Given the description of an element on the screen output the (x, y) to click on. 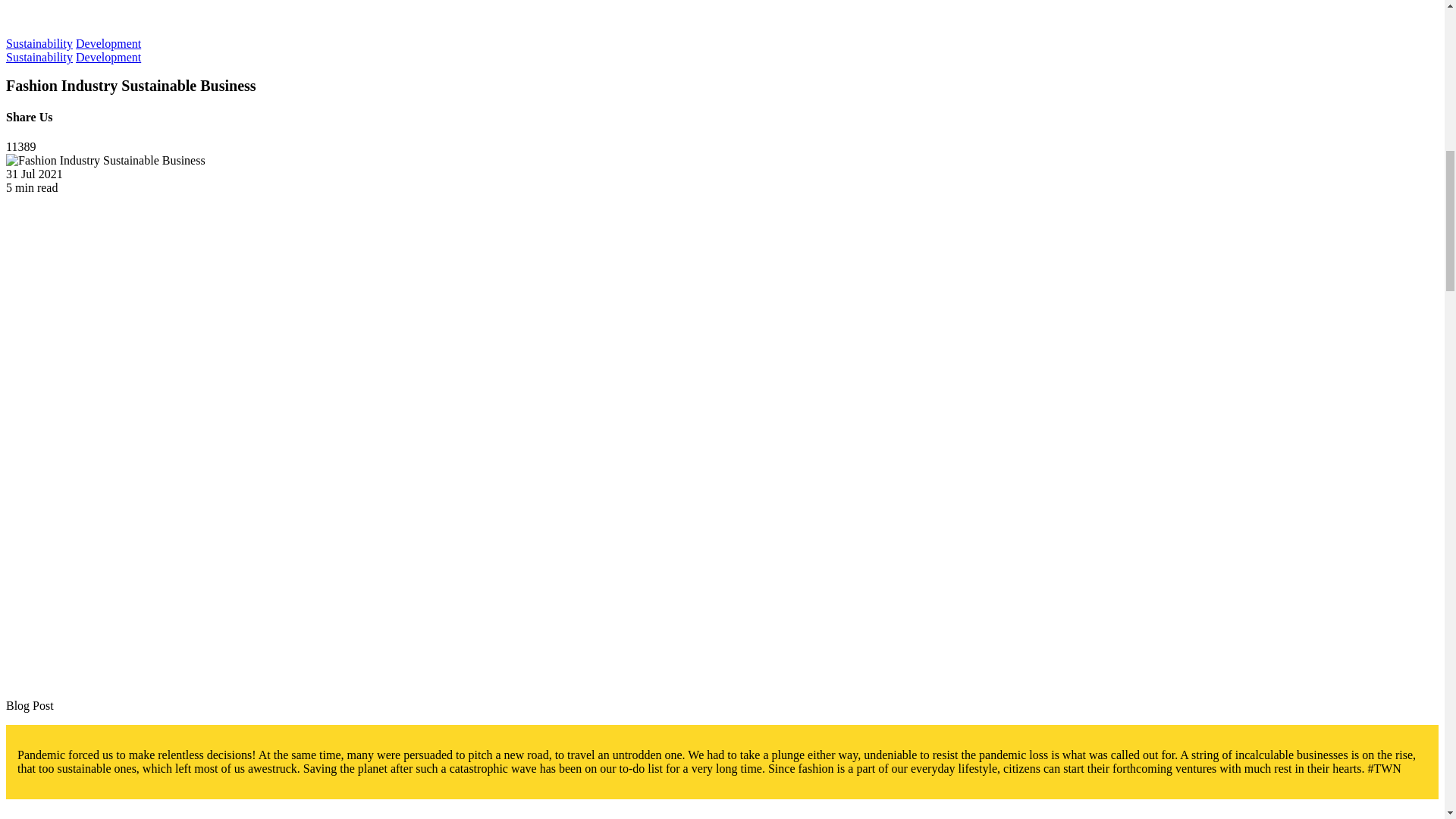
Development (108, 56)
Development (108, 42)
Sustainability (38, 42)
Sustainability (38, 56)
